Given the description of an element on the screen output the (x, y) to click on. 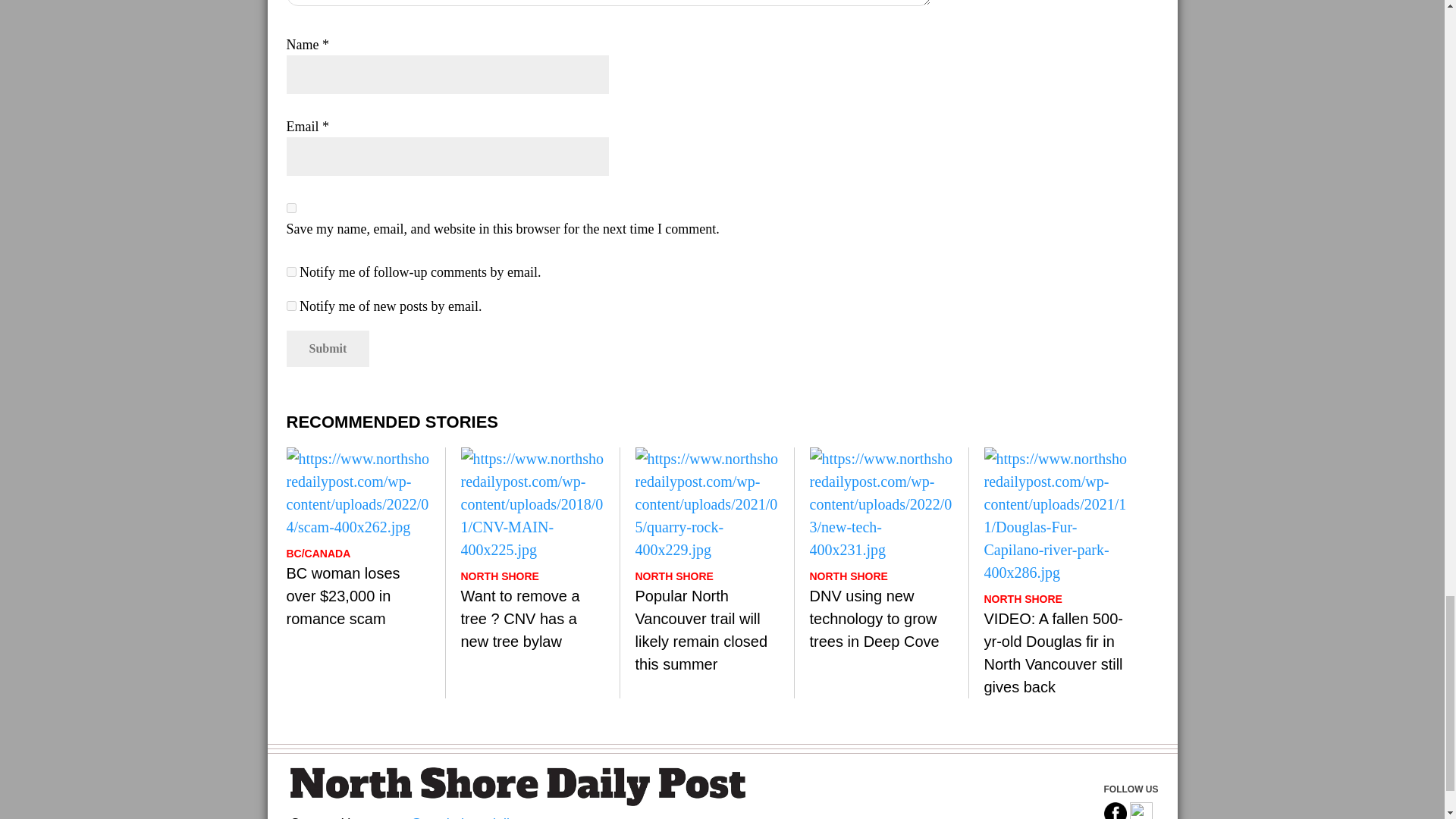
subscribe (291, 306)
yes (291, 207)
Submit (327, 348)
Submit (327, 348)
subscribe (291, 271)
